Given the description of an element on the screen output the (x, y) to click on. 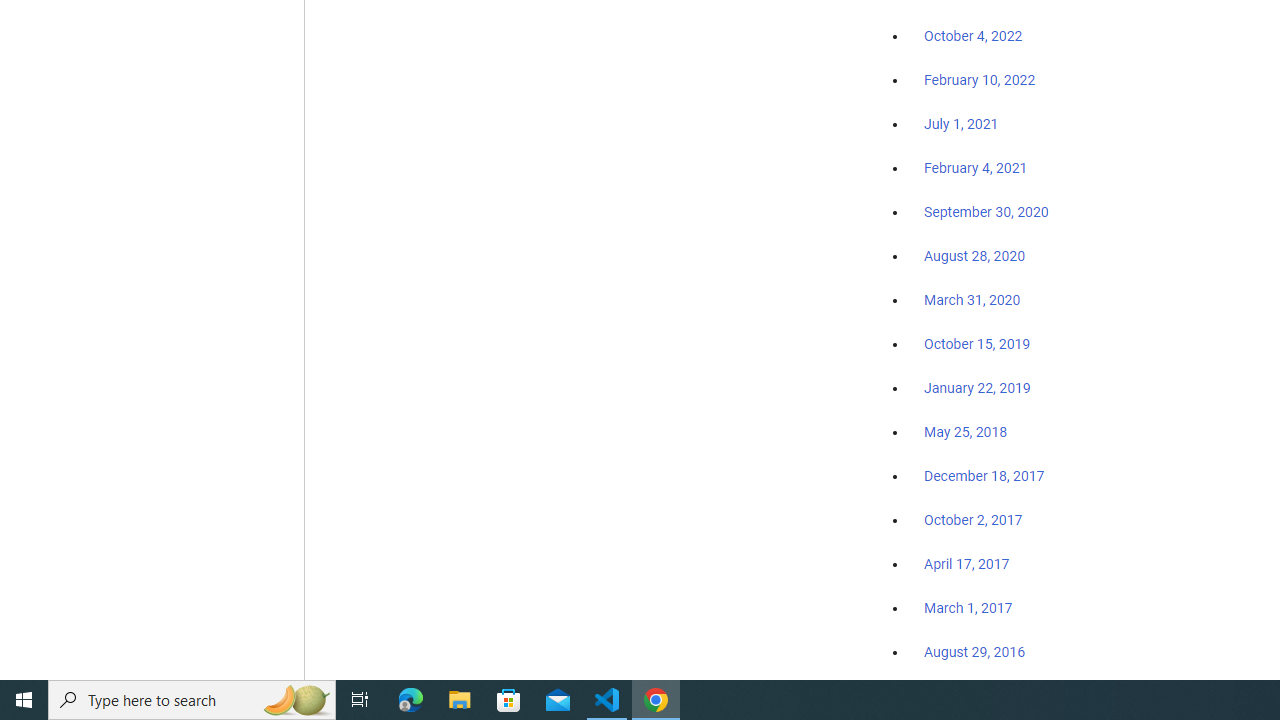
August 28, 2020 (974, 255)
December 18, 2017 (984, 476)
October 15, 2019 (977, 343)
January 22, 2019 (977, 387)
October 4, 2022 (973, 37)
September 30, 2020 (986, 212)
February 4, 2021 (975, 168)
March 31, 2020 (972, 299)
April 17, 2017 (966, 564)
February 10, 2022 (979, 81)
March 1, 2017 (968, 608)
May 25, 2018 (966, 431)
October 2, 2017 (973, 520)
August 29, 2016 (974, 651)
July 1, 2021 (961, 124)
